Given the description of an element on the screen output the (x, y) to click on. 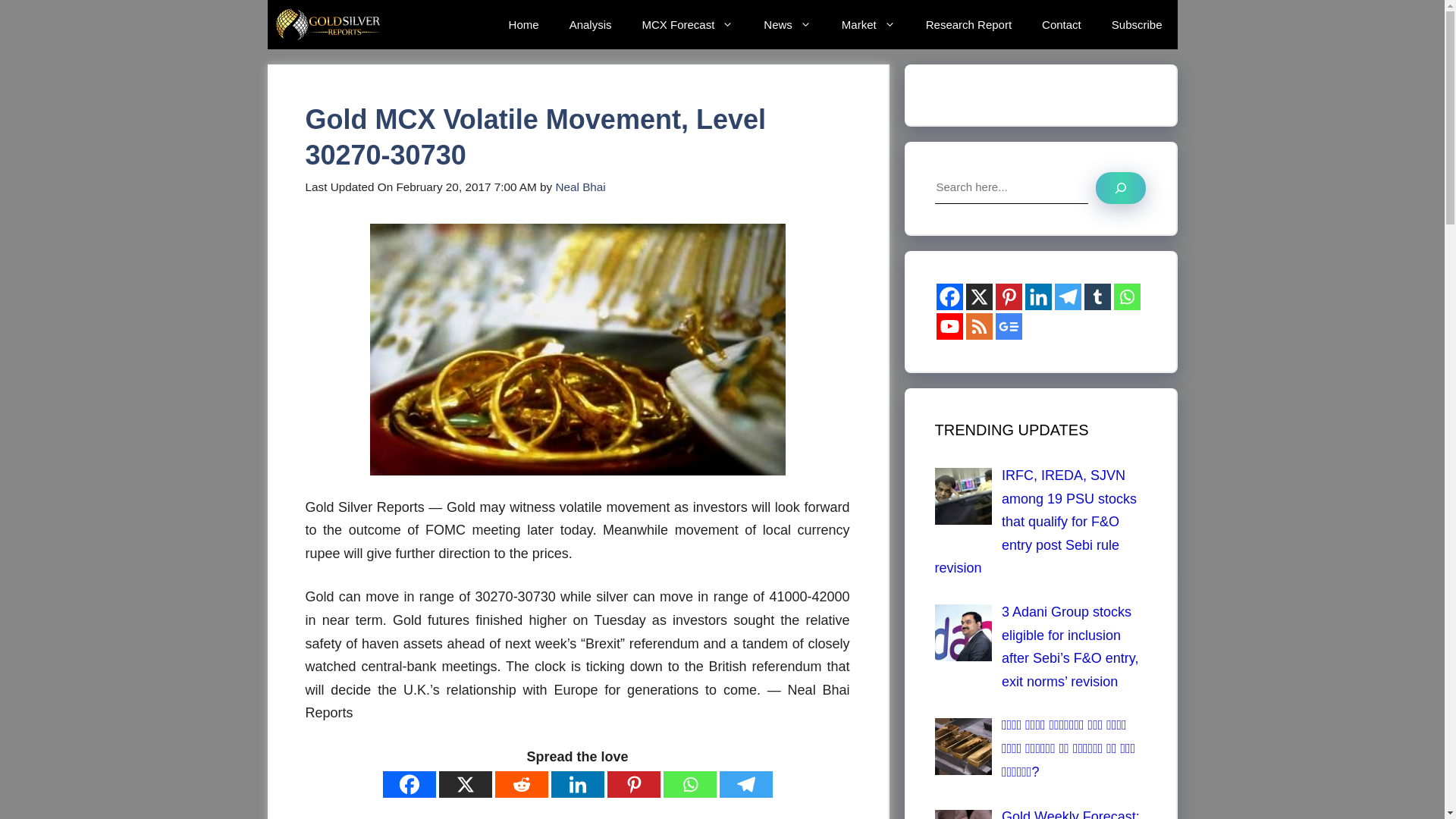
Research Report (968, 24)
News (787, 24)
MCX Forecast (687, 24)
Analysis (590, 24)
News (787, 24)
Analysis (590, 24)
Home (523, 24)
Home (523, 24)
Contact (1061, 24)
Subscribe (1136, 24)
